Given the description of an element on the screen output the (x, y) to click on. 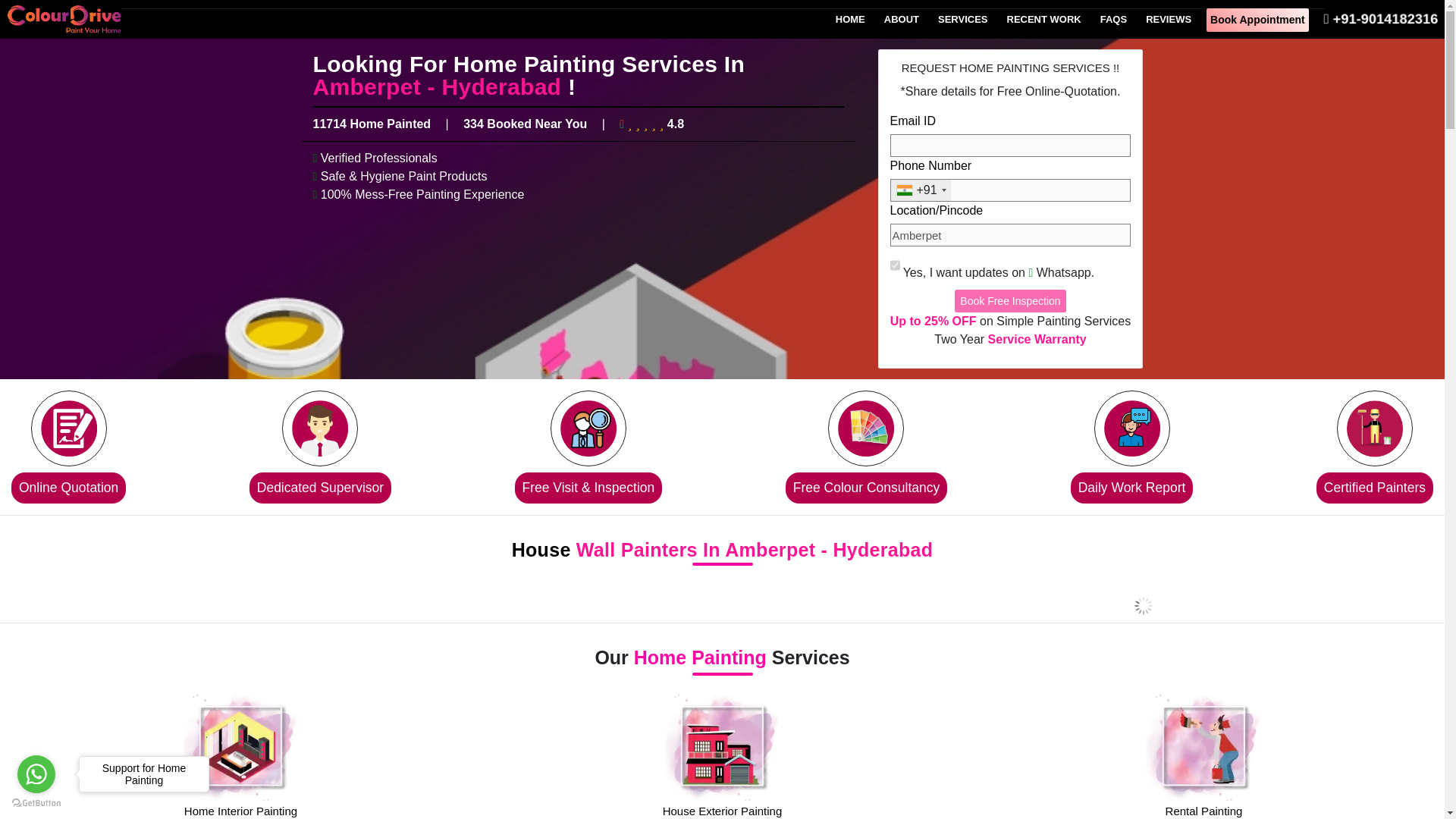
Amberpet (1010, 234)
Home Interior Painting (240, 779)
Book Free Inspection (1010, 300)
HOME (850, 19)
FAQS (1113, 19)
REVIEWS (1168, 19)
Rental Painting (1204, 779)
House Exterior Painting (722, 779)
ABOUT (901, 19)
RECENT WORK (1043, 19)
SERVICES (962, 19)
Book Appointment (1257, 19)
